Given the description of an element on the screen output the (x, y) to click on. 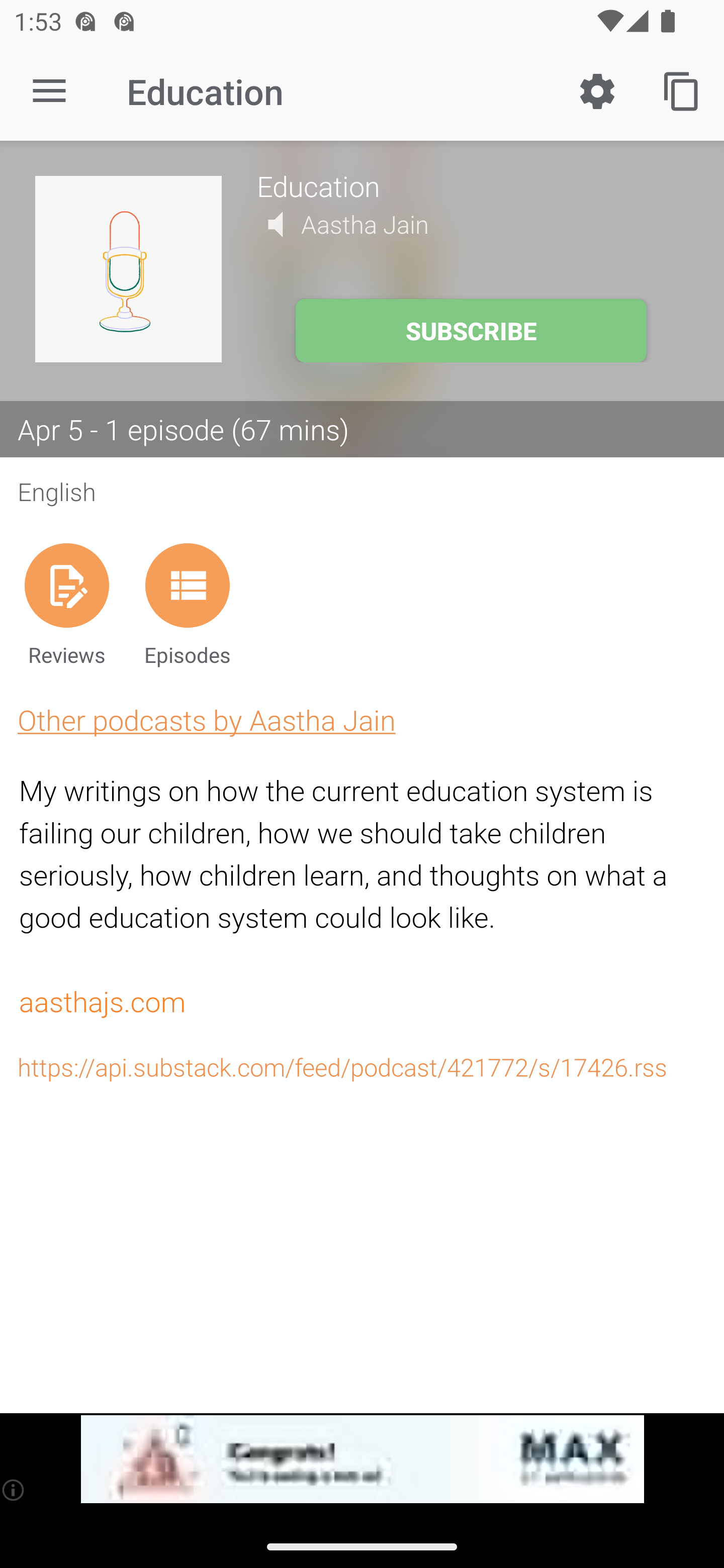
Open navigation sidebar (49, 91)
Settings (597, 90)
Copy feed url to clipboard (681, 90)
Education (472, 185)
SUBSCRIBE (470, 330)
Reviews (66, 604)
Episodes (187, 604)
Other podcasts by Aastha Jain (206, 719)
aasthajs.com (101, 1002)
app-monetization (362, 1459)
(i) (14, 1489)
